Given the description of an element on the screen output the (x, y) to click on. 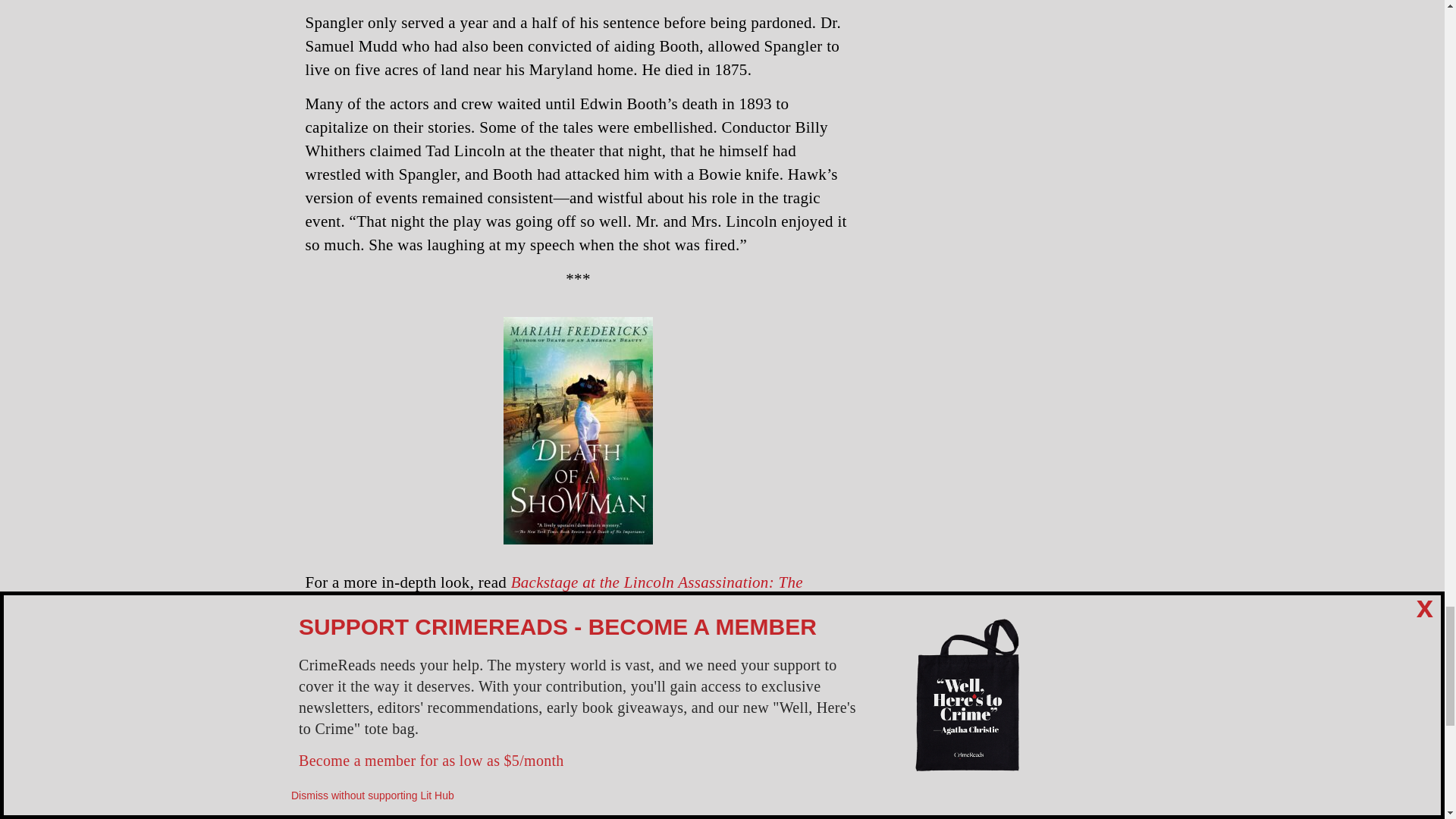
Click to share on Twitter (741, 651)
Share on Facebook (710, 651)
